Given the description of an element on the screen output the (x, y) to click on. 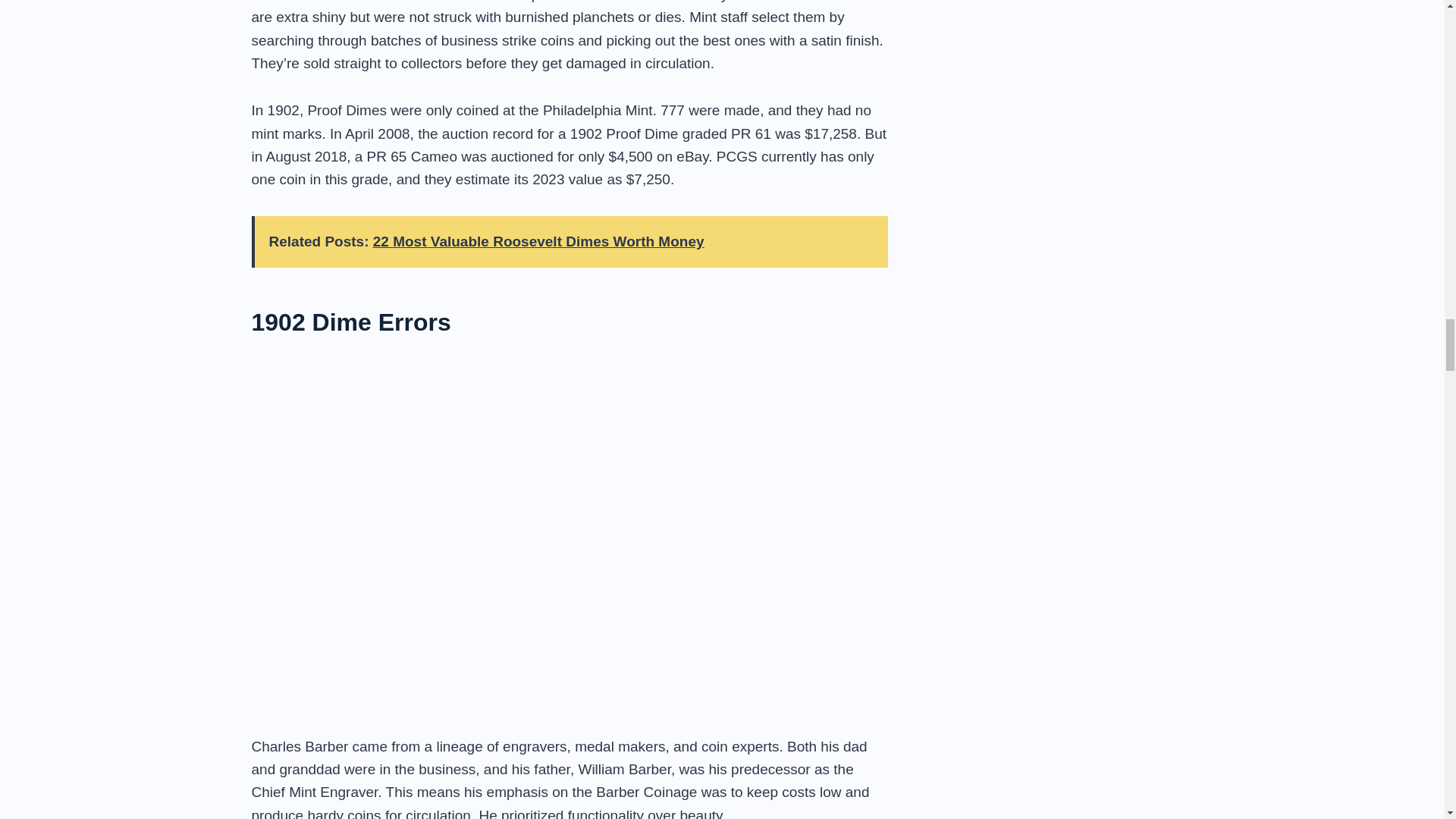
22 Most Valuable Roosevelt Dimes Worth Money (538, 241)
